Given the description of an element on the screen output the (x, y) to click on. 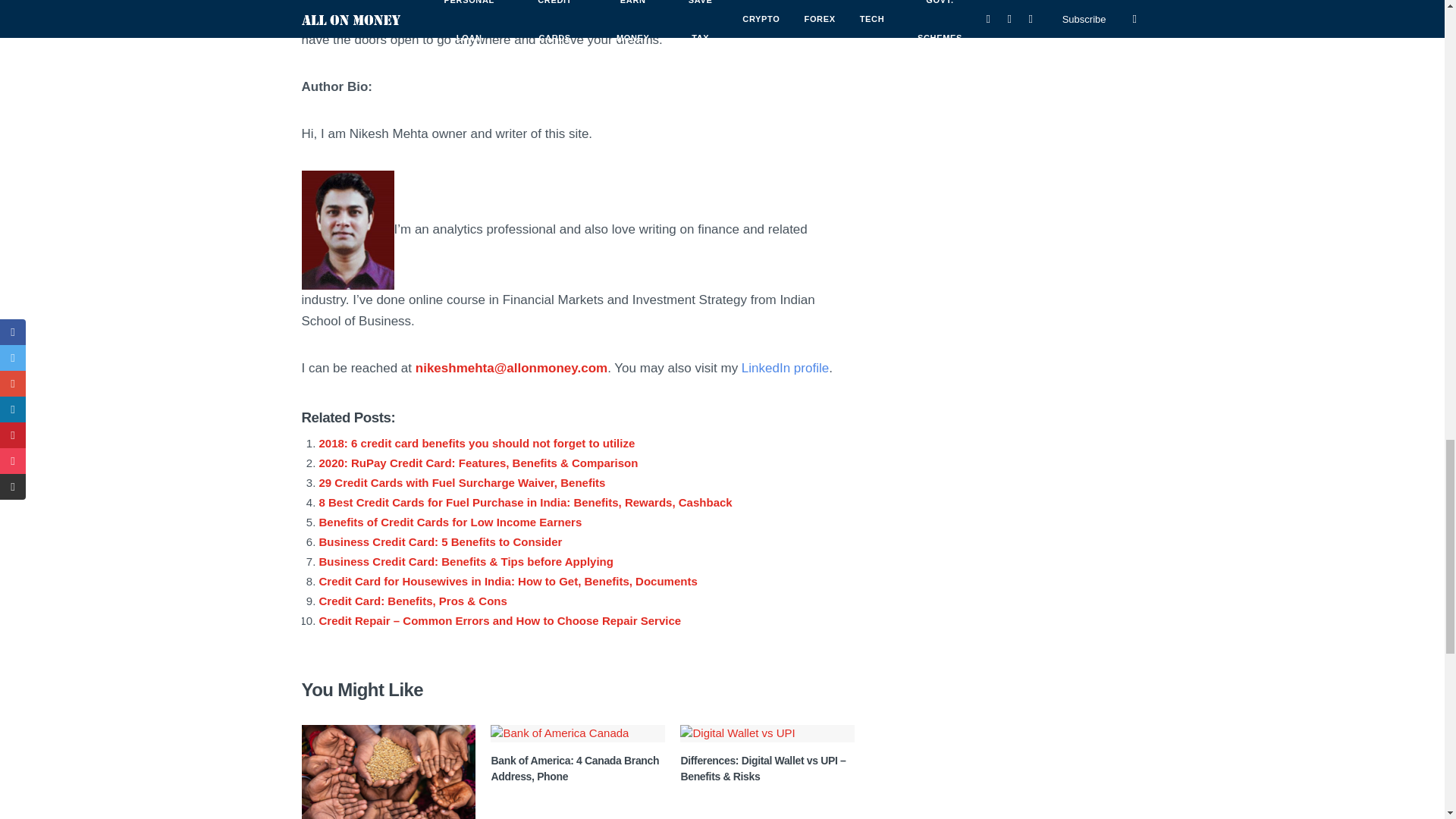
Benefits of Credit Cards for Low Income Earners (449, 521)
29 Credit Cards with Fuel Surcharge Waiver, Benefits (461, 481)
Business Credit Card: 5 Benefits to Consider (440, 541)
LinkedIn profile (784, 368)
